Given the description of an element on the screen output the (x, y) to click on. 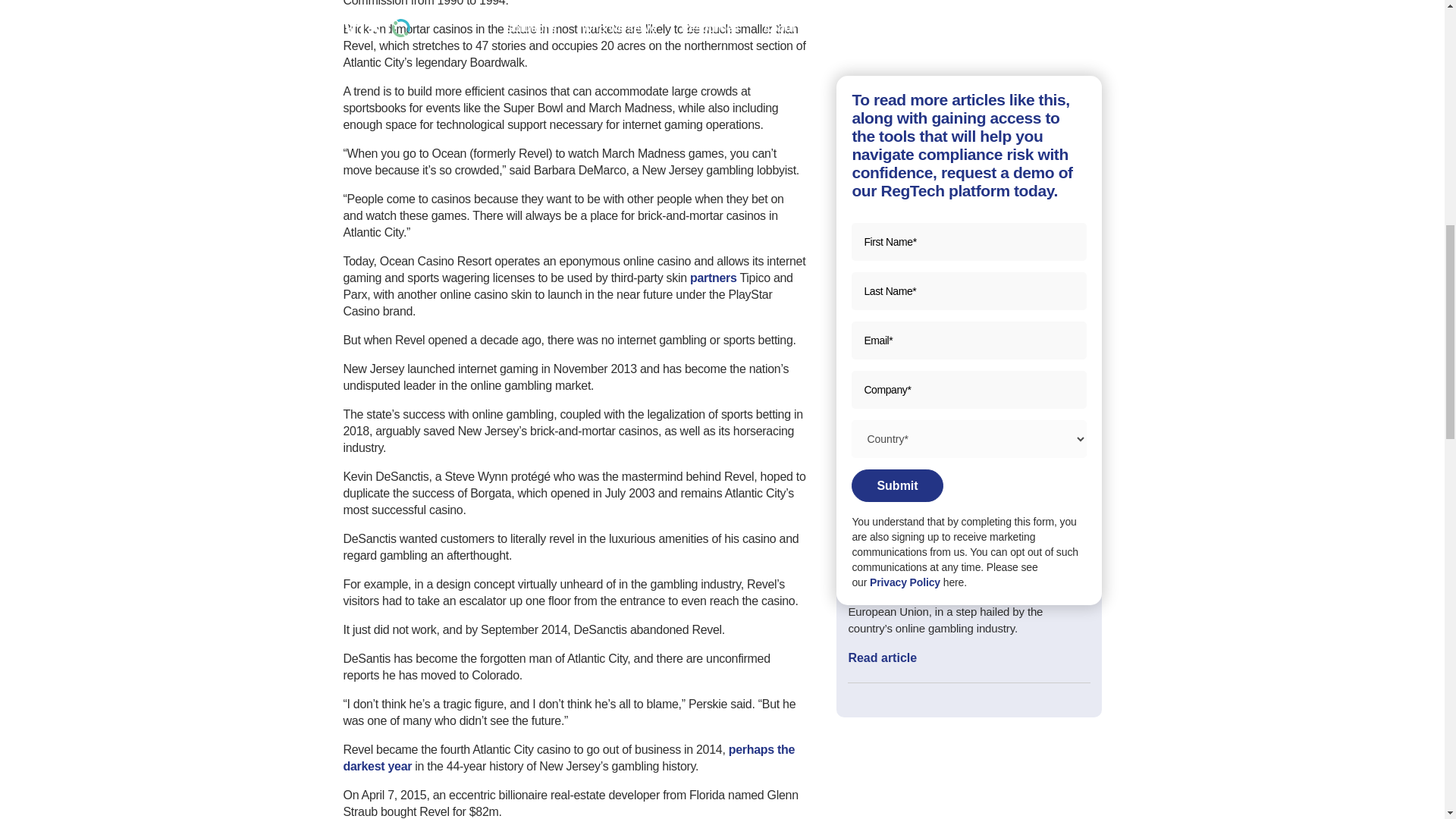
partners (713, 277)
perhaps the darkest year (568, 757)
Submit (896, 55)
